Given the description of an element on the screen output the (x, y) to click on. 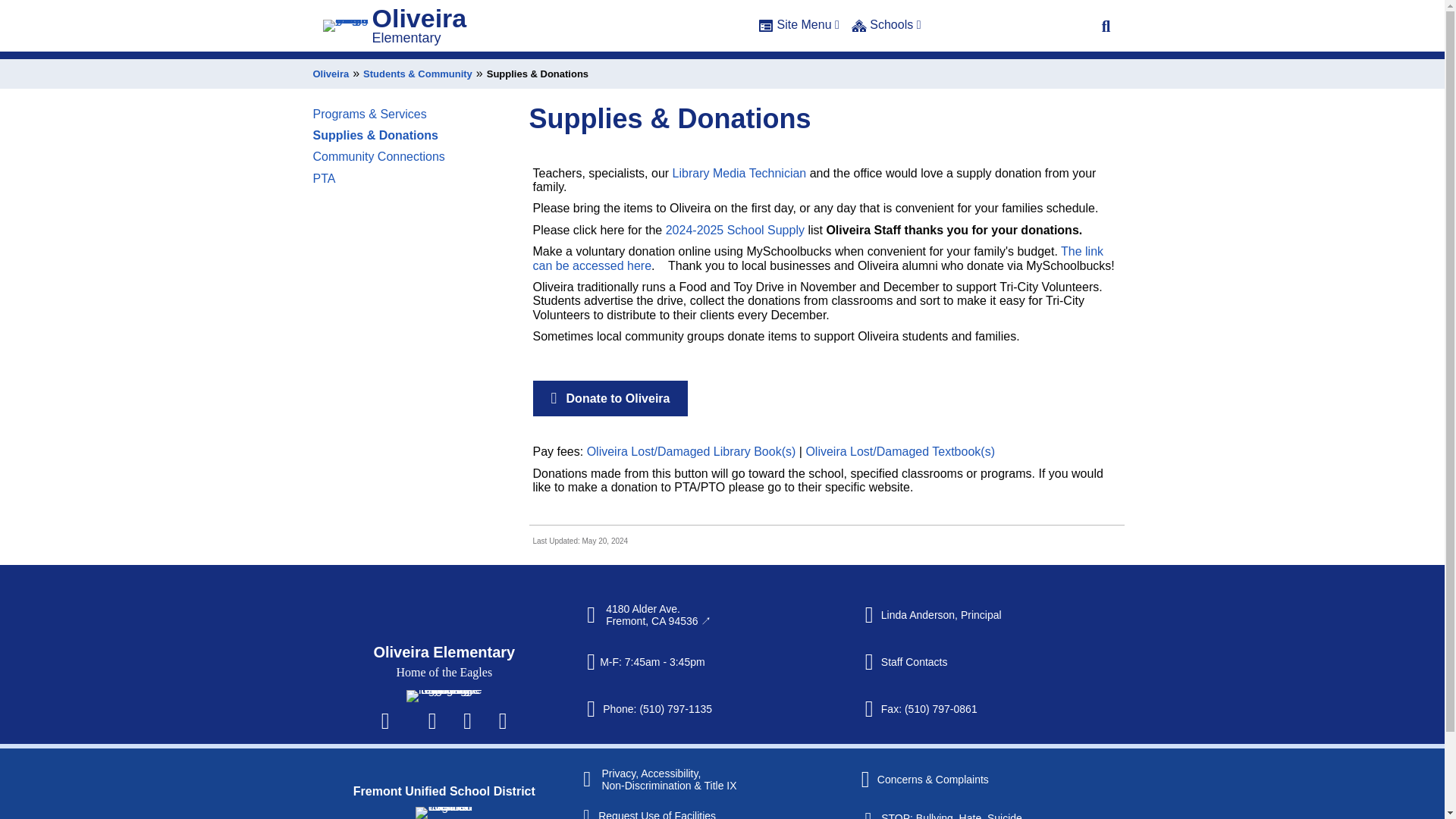
oliveira (443, 675)
Oliveira Elementary (443, 599)
fusd-logo (442, 807)
Click Here (1105, 30)
Schools (886, 32)
oliveira (345, 30)
Oliveira (418, 22)
Peachjar (502, 732)
Site Menu (798, 32)
Elementary (406, 42)
